Given the description of an element on the screen output the (x, y) to click on. 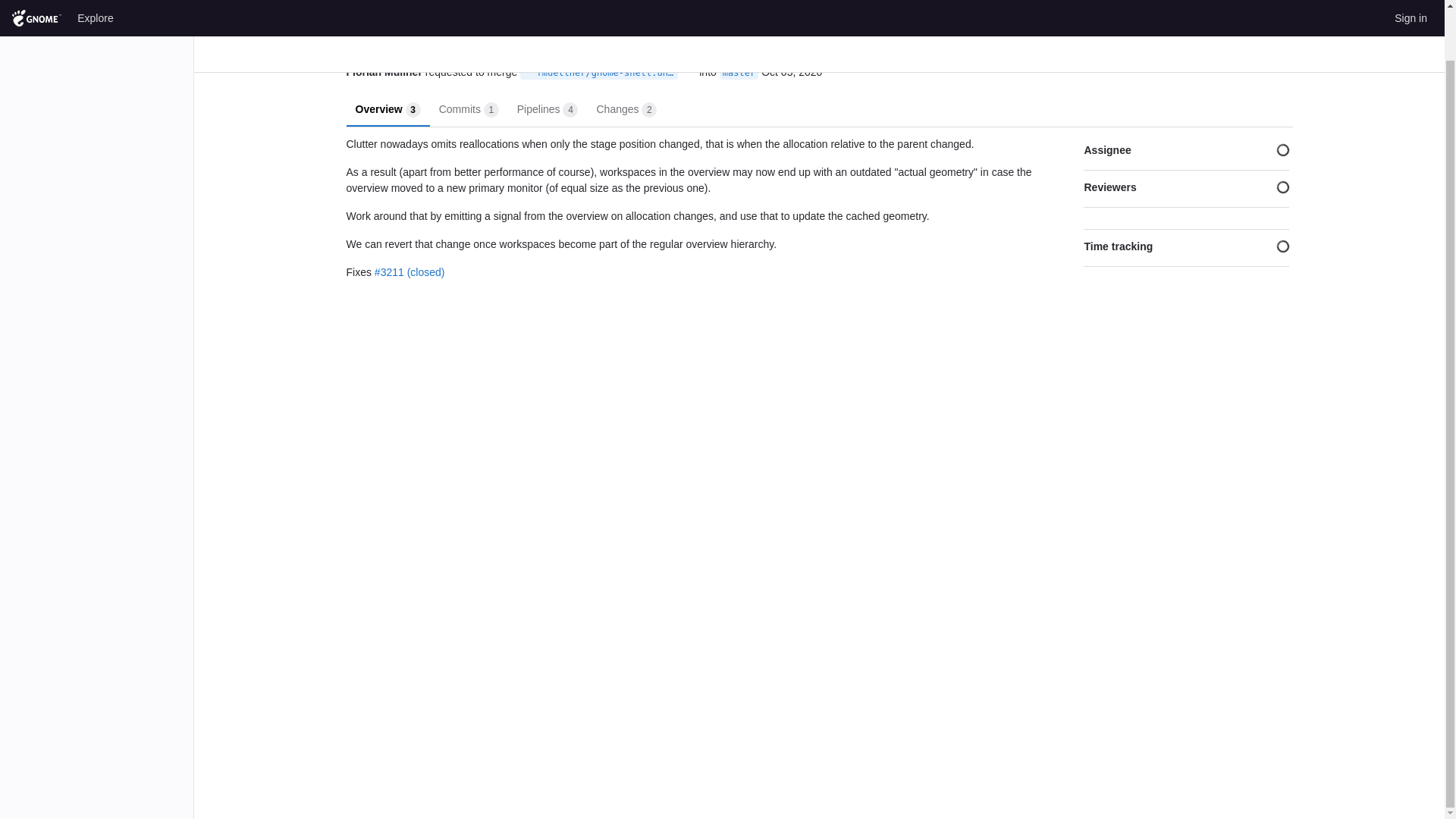
The source project is a fork (528, 72)
master (738, 72)
master (548, 108)
Oct 3, 2020 8:37am (738, 72)
Code (468, 108)
